Given the description of an element on the screen output the (x, y) to click on. 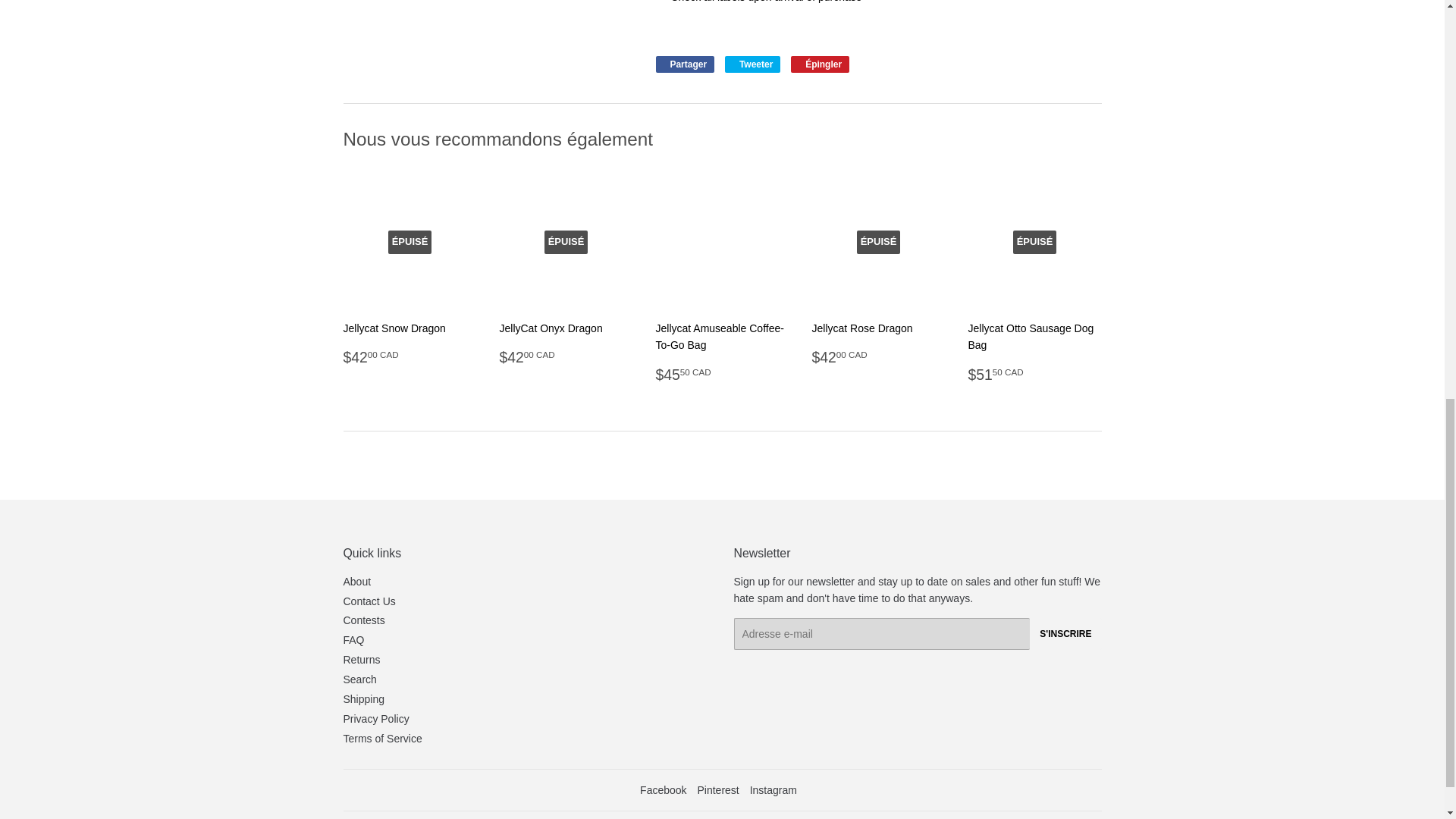
Heavenly Outhouse sur Facebook (662, 789)
Heavenly Outhouse sur Pinterest (717, 789)
Heavenly Outhouse sur Instagram (772, 789)
Tweeter sur Twitter (752, 64)
Partager sur Facebook (684, 64)
